Given the description of an element on the screen output the (x, y) to click on. 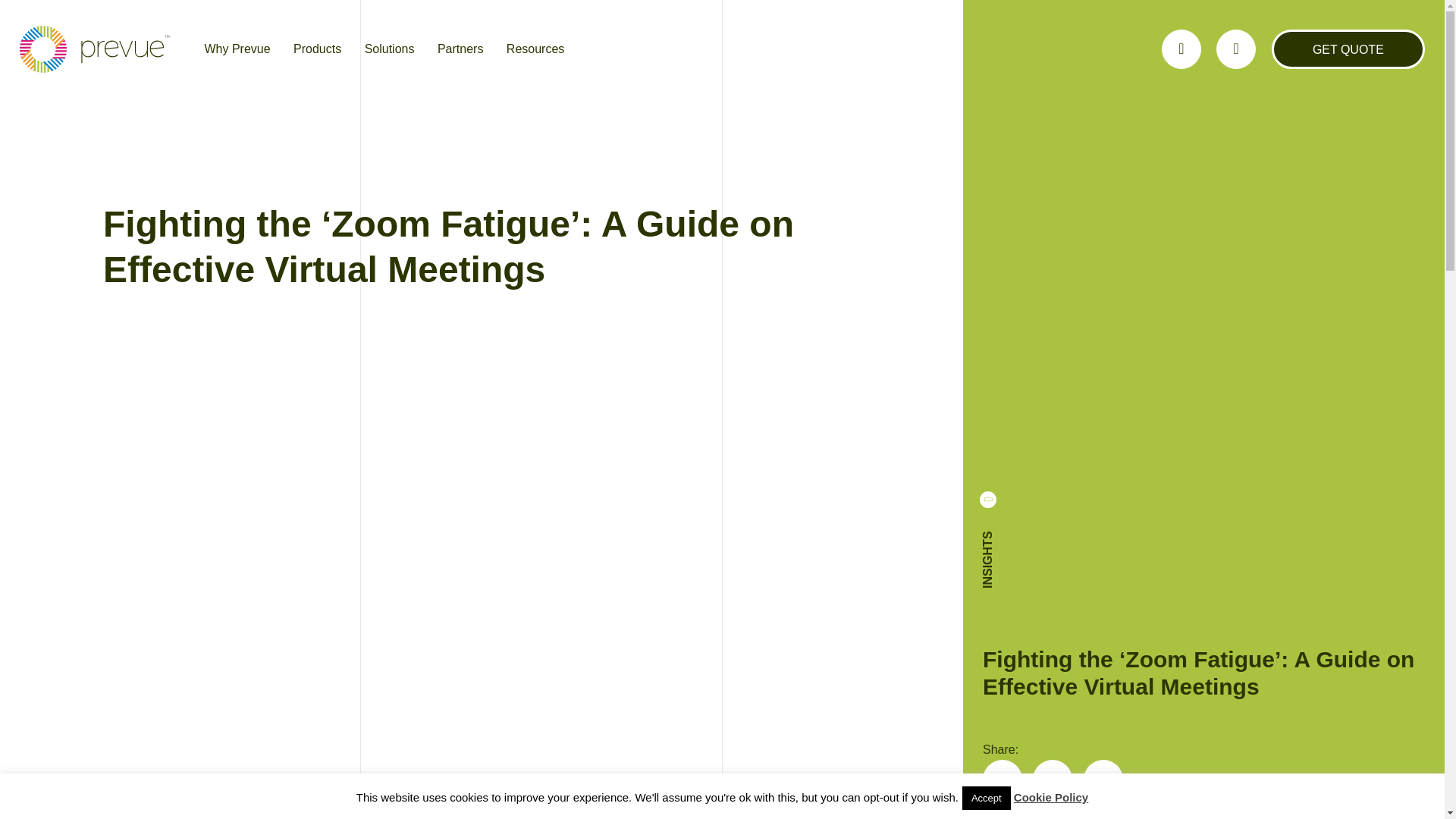
Products (316, 49)
Partners (460, 49)
Why Prevue (236, 49)
Solutions (390, 49)
Resources (534, 49)
LOGIN (1181, 48)
SEARCH (1235, 48)
GET QUOTE (1348, 48)
